Given the description of an element on the screen output the (x, y) to click on. 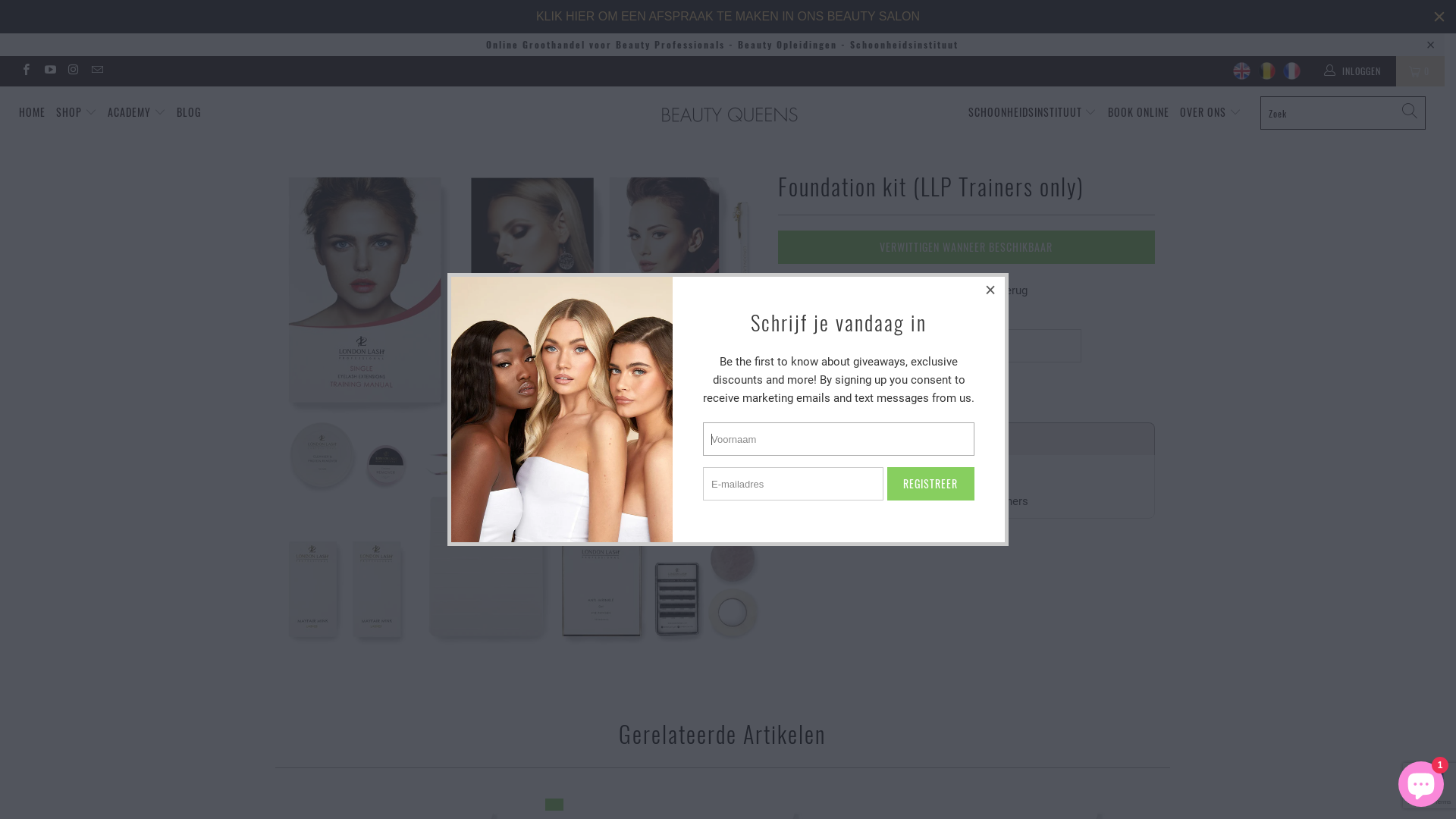
SHOP Element type: text (76, 112)
Beauty Queens on Facebook Element type: hover (24, 70)
INLOGGEN Element type: text (1353, 71)
Close Element type: hover (990, 290)
HOME Element type: text (31, 112)
Beauty Queens Element type: hover (729, 114)
OVER ONS Element type: text (1210, 112)
SCHOONHEIDSINSTITUUT Element type: text (1032, 112)
Email Beauty Queens Element type: hover (96, 70)
VERWITTIGEN WANNEER BESCHIKBAAR Element type: text (966, 246)
BLOG Element type: text (188, 112)
Registreer Element type: text (930, 483)
ACADEMY Element type: text (136, 112)
0 Element type: text (1420, 71)
Verzend Element type: text (814, 390)
Beauty Queens on YouTube Element type: hover (48, 70)
BOOK ONLINE Element type: text (1138, 112)
Beauty Queens on Instagram Element type: hover (72, 70)
Onlinewinkel-chat van Shopify Element type: hover (1420, 780)
